Given the description of an element on the screen output the (x, y) to click on. 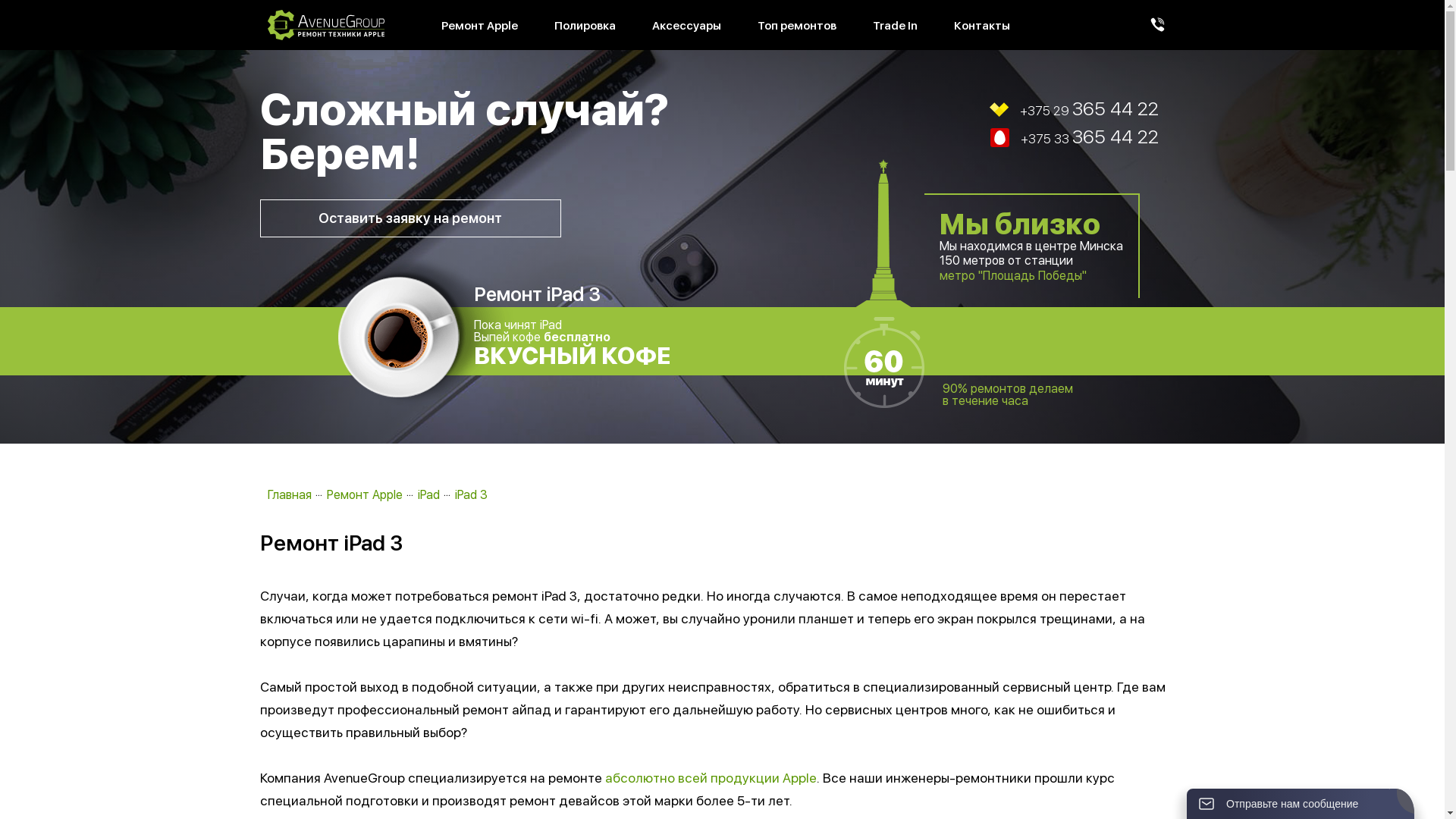
+375 29 365 44 22 Element type: text (939, 109)
iPad 3 Element type: text (471, 494)
+375 33 365 44 22 Element type: text (939, 137)
Trade In Element type: text (894, 25)
iPad Element type: text (428, 494)
0 Element type: text (4, 4)
